Given the description of an element on the screen output the (x, y) to click on. 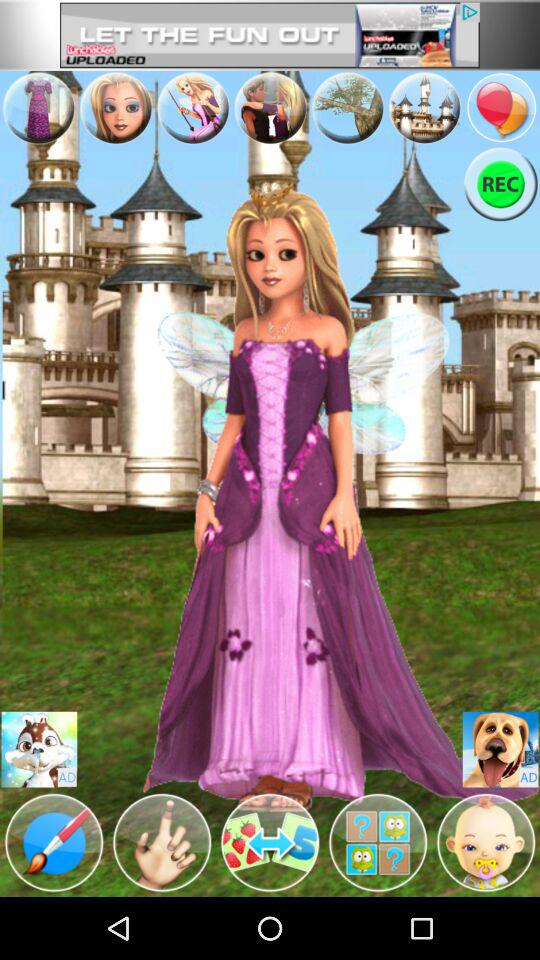
logo (486, 843)
